Given the description of an element on the screen output the (x, y) to click on. 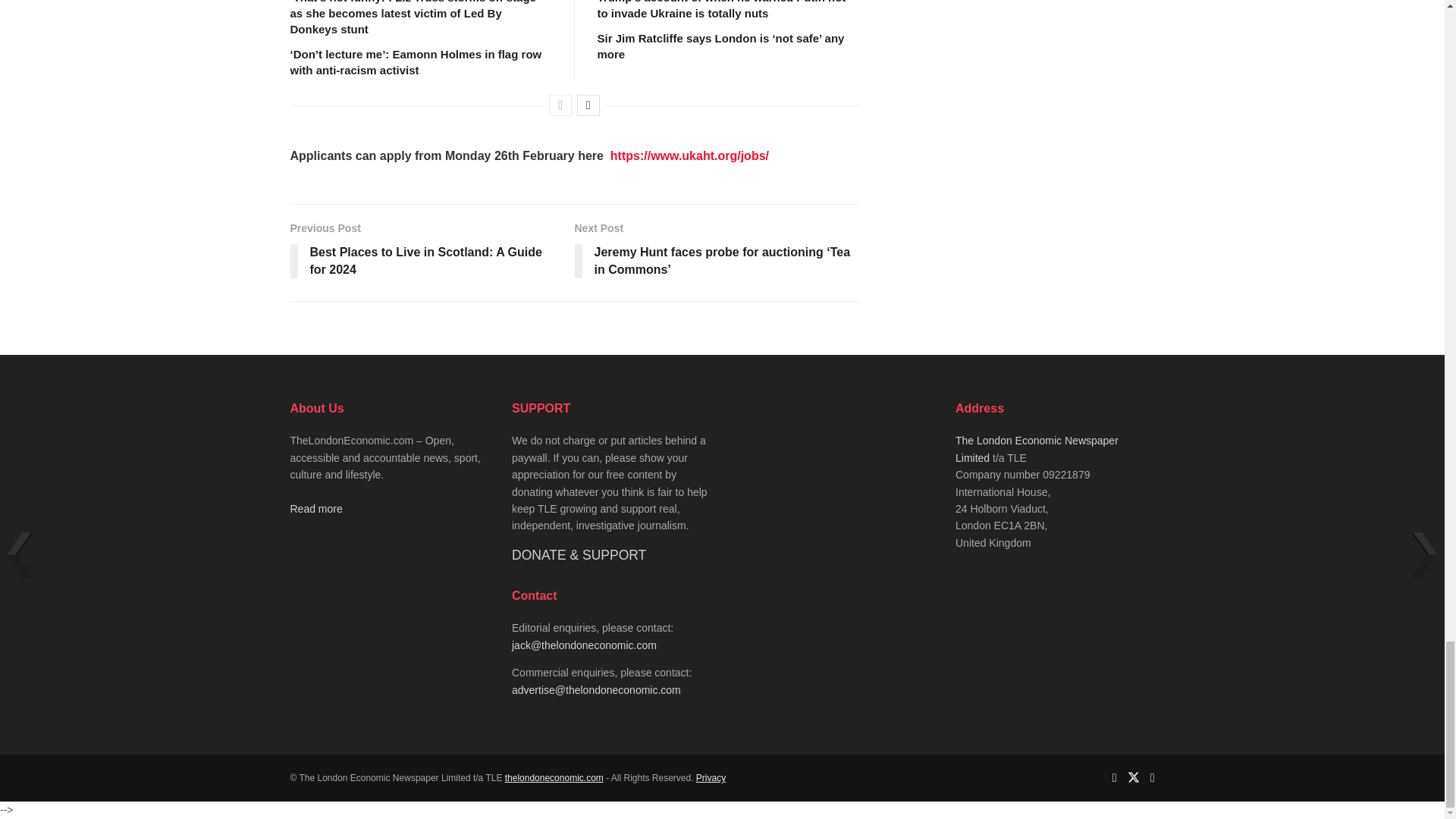
Next (587, 105)
The London Economic (554, 777)
Privacy (710, 777)
Previous (560, 105)
